Given the description of an element on the screen output the (x, y) to click on. 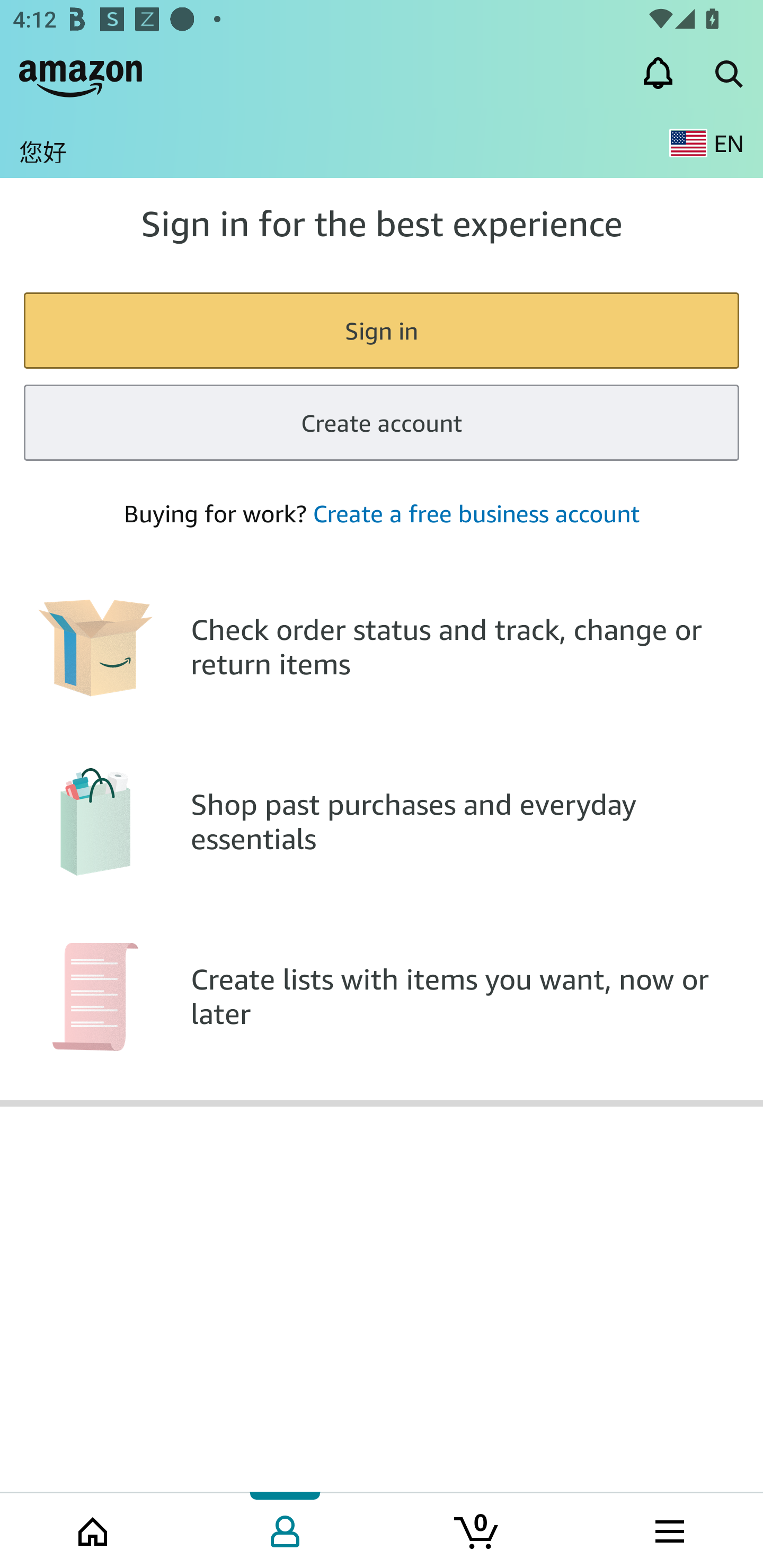
Amazon (81, 72)
Notification Hub (657, 72)
Search (727, 72)
anx_me_country_and_language EN (706, 143)
sib Sign in (381, 329)
cab Create account (381, 422)
Home Tab 1 of 4 (94, 1529)
Your Amazon.com Tab 2 of 4 (285, 1529)
Cart 0 item Tab 3 of 4 0 (477, 1529)
Browse menu Tab 4 of 4 (668, 1529)
